Given the description of an element on the screen output the (x, y) to click on. 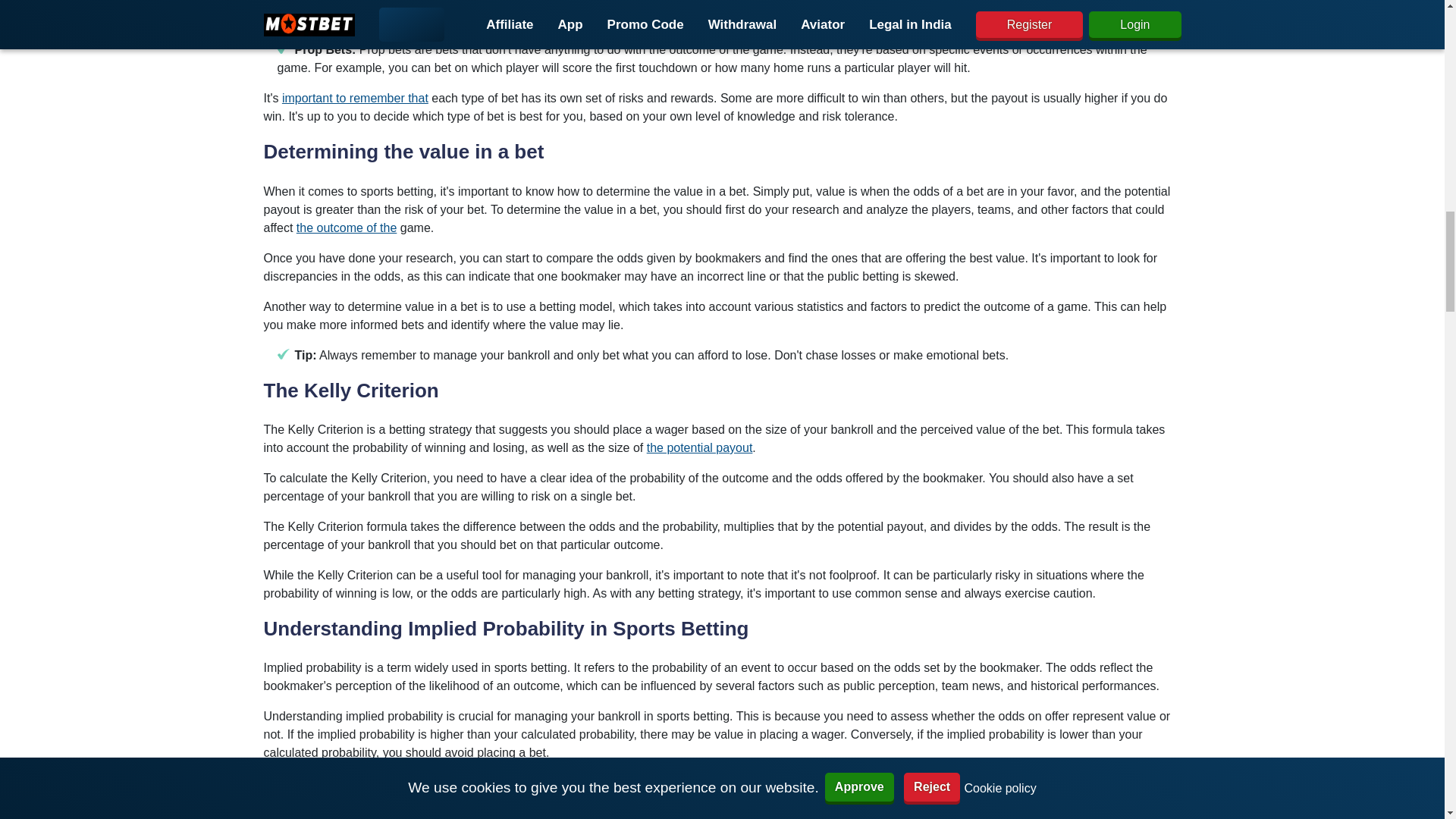
the potential payout (699, 447)
important to remember that (355, 97)
the outcome of the (347, 227)
